Given the description of an element on the screen output the (x, y) to click on. 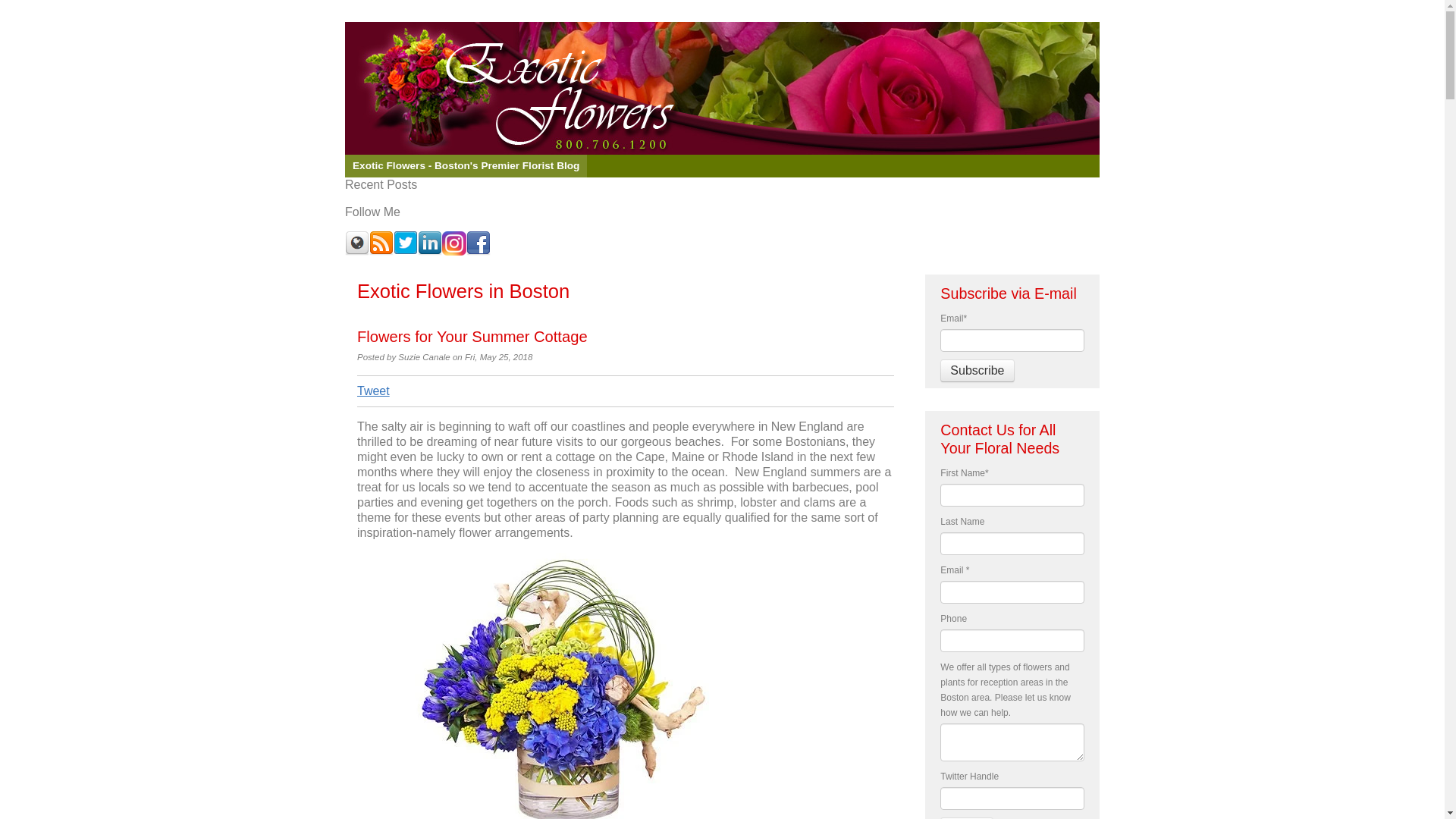
Exotic Flowers - Boston's Premier Florist Blog (465, 165)
Follow us on Facebook (477, 242)
Follow us on Instagram (453, 242)
Subscribe (976, 370)
 Exotic Flowers (722, 88)
Submit (966, 818)
Follow us on RSS (381, 242)
Tweet (373, 390)
Flowers for Your Summer Cottage (472, 336)
Follow us on Twitter (405, 242)
